Given the description of an element on the screen output the (x, y) to click on. 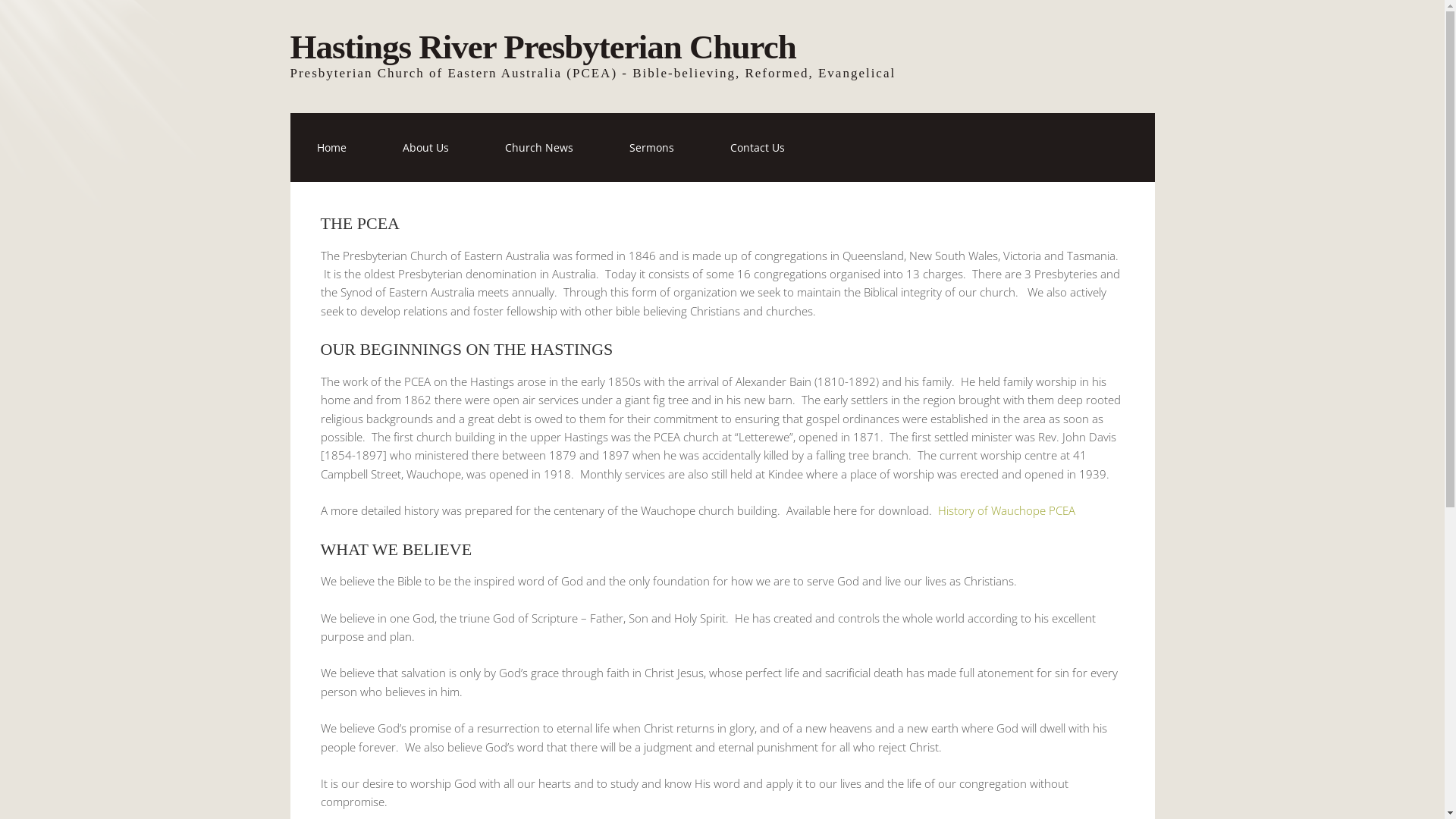
Home Element type: text (330, 147)
About Us Element type: text (425, 147)
History of Wauchope PCEA Element type: text (1005, 509)
Contact Us Element type: text (757, 147)
Sermons Element type: text (650, 147)
Hastings River Presbyterian Church Element type: text (542, 46)
Church News Element type: text (538, 147)
